Given the description of an element on the screen output the (x, y) to click on. 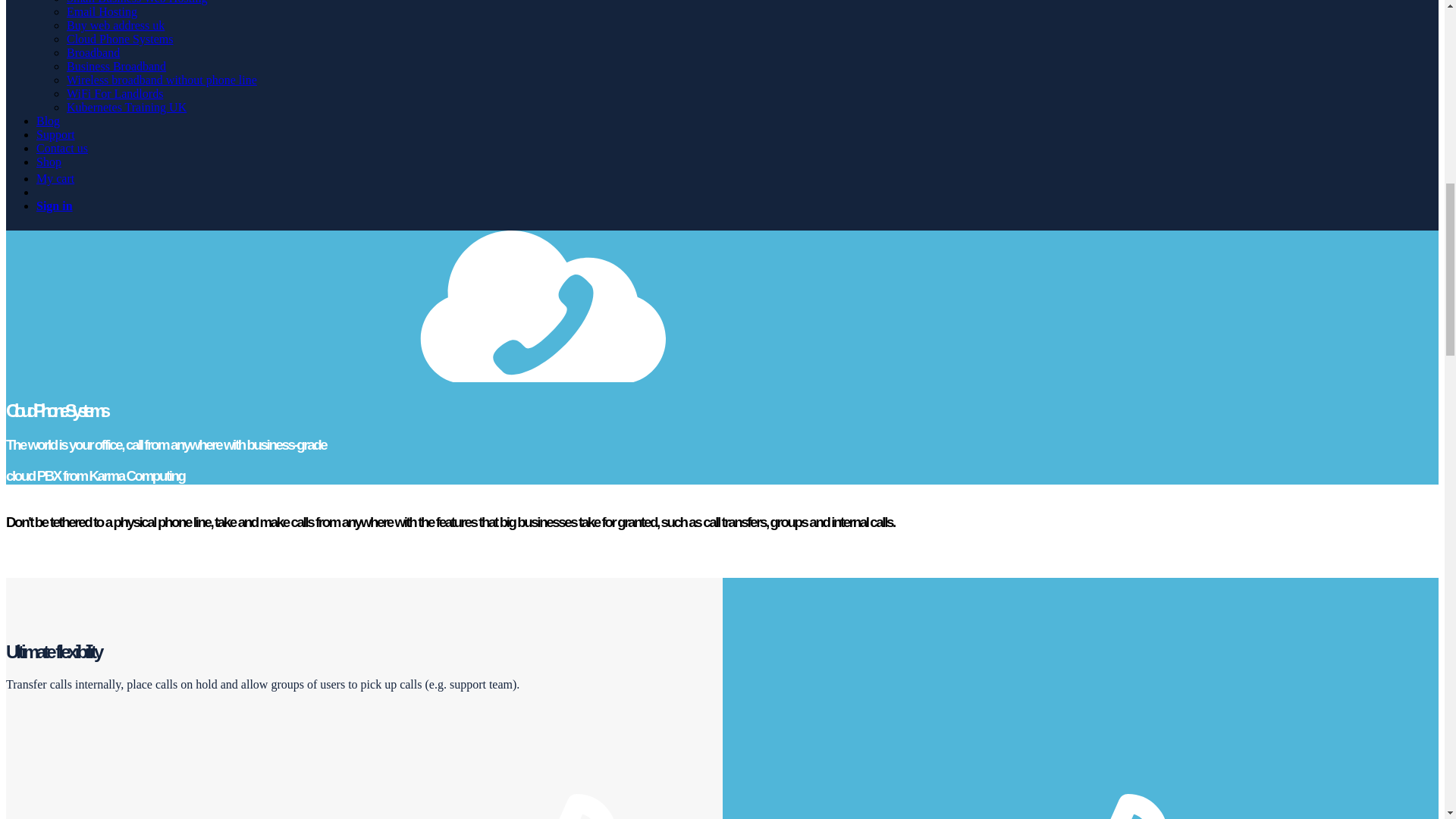
Kubernetes Training UK (126, 106)
WiFi For Landlords (114, 92)
Cloud Phone Systems (119, 38)
Wireless broadband without phone line (161, 79)
Email Hosting (101, 11)
Shop (48, 161)
Sign in (54, 205)
Buy web address uk (115, 24)
Broadband (92, 51)
Support (55, 133)
Blog (47, 120)
Business Broadband (115, 65)
My cart (55, 178)
Contact us (61, 147)
Small Business Web Hosting (137, 2)
